Given the description of an element on the screen output the (x, y) to click on. 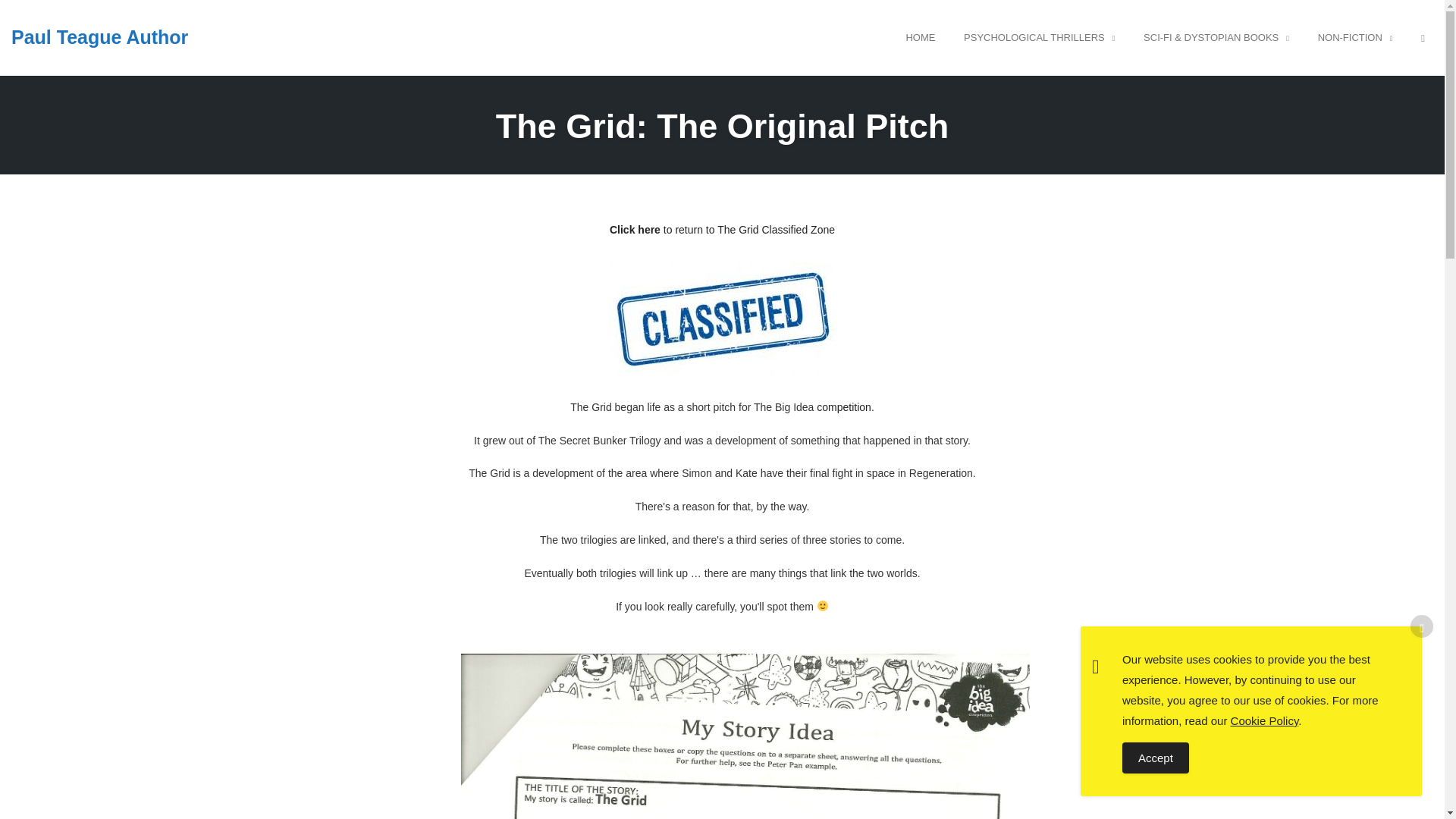
competition (843, 407)
Paul Teague Author (99, 36)
OPEN SEARCH FORM (1422, 37)
HOME (919, 37)
NON-FICTION (1354, 37)
The Grid: The Original Pitch (722, 125)
Click here to return to The Grid Classified Zone (722, 229)
PSYCHOLOGICAL THRILLERS (1038, 37)
